Given the description of an element on the screen output the (x, y) to click on. 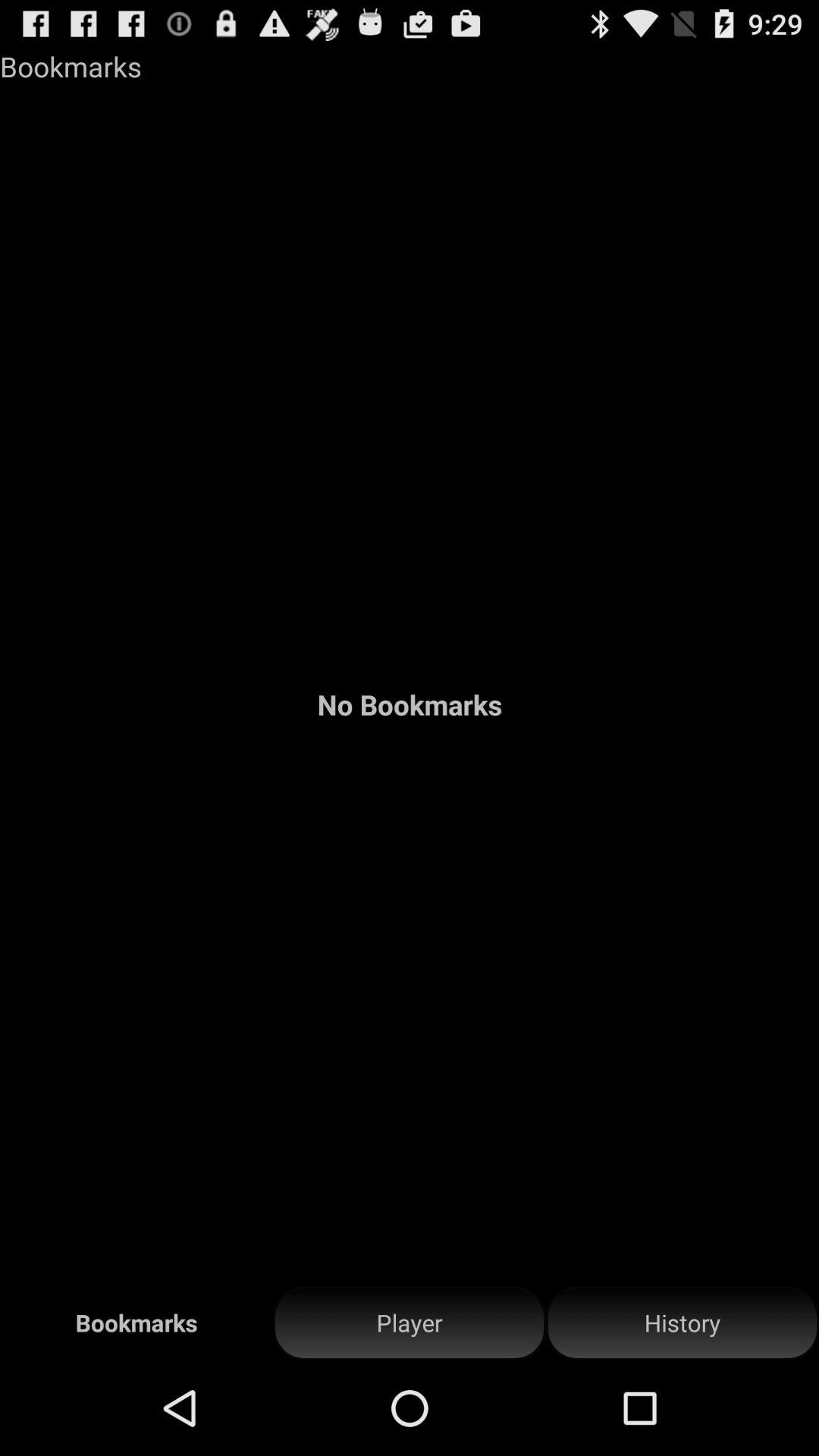
launch the icon to the right of bookmarks item (409, 1323)
